Given the description of an element on the screen output the (x, y) to click on. 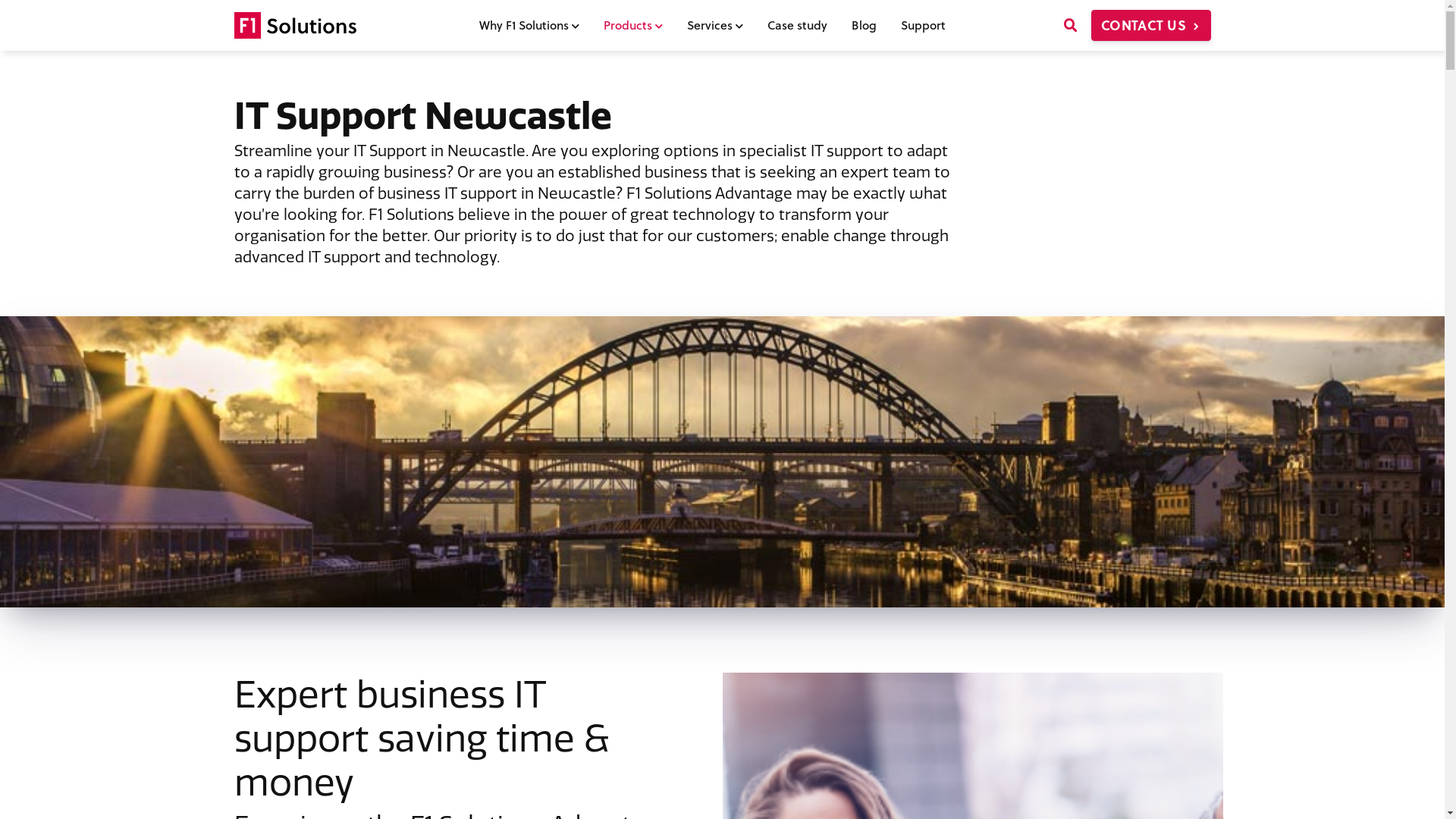
Support Element type: text (922, 25)
Blog Element type: text (863, 25)
Case study Element type: text (797, 25)
Products Element type: text (632, 25)
CONTACT US Element type: text (1151, 24)
Why F1 Solutions Element type: text (529, 25)
Services Element type: text (714, 25)
